Given the description of an element on the screen output the (x, y) to click on. 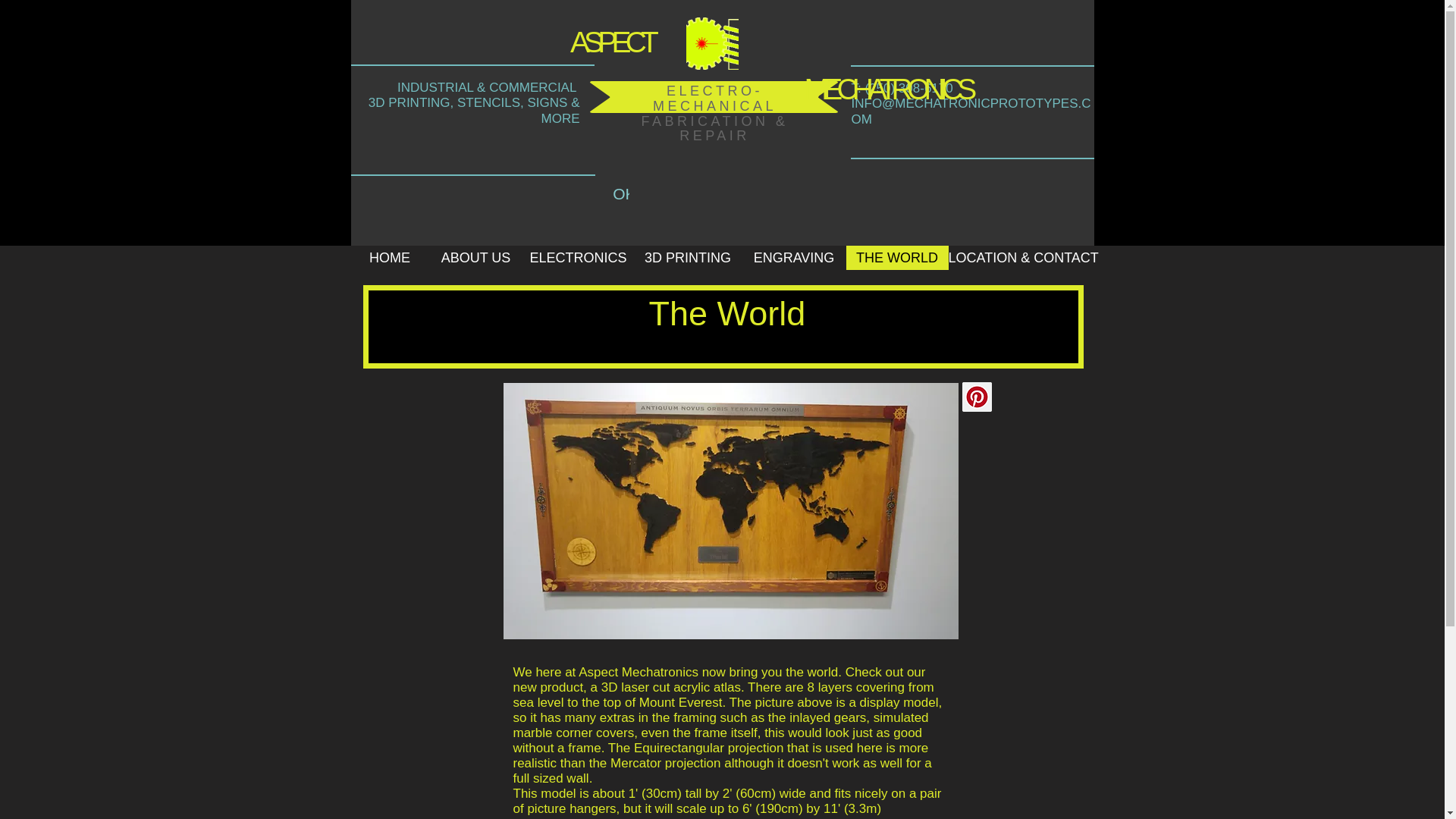
MECHATRONICS (888, 88)
AspectMechatronics-Logo-02-01.png (711, 43)
ENGRAVING (793, 257)
THE WORLD (897, 257)
ELECTRONICS (577, 257)
HOME (389, 257)
3D PRINTING (687, 257)
ASPECT (611, 41)
ABOUT US (475, 257)
